Given the description of an element on the screen output the (x, y) to click on. 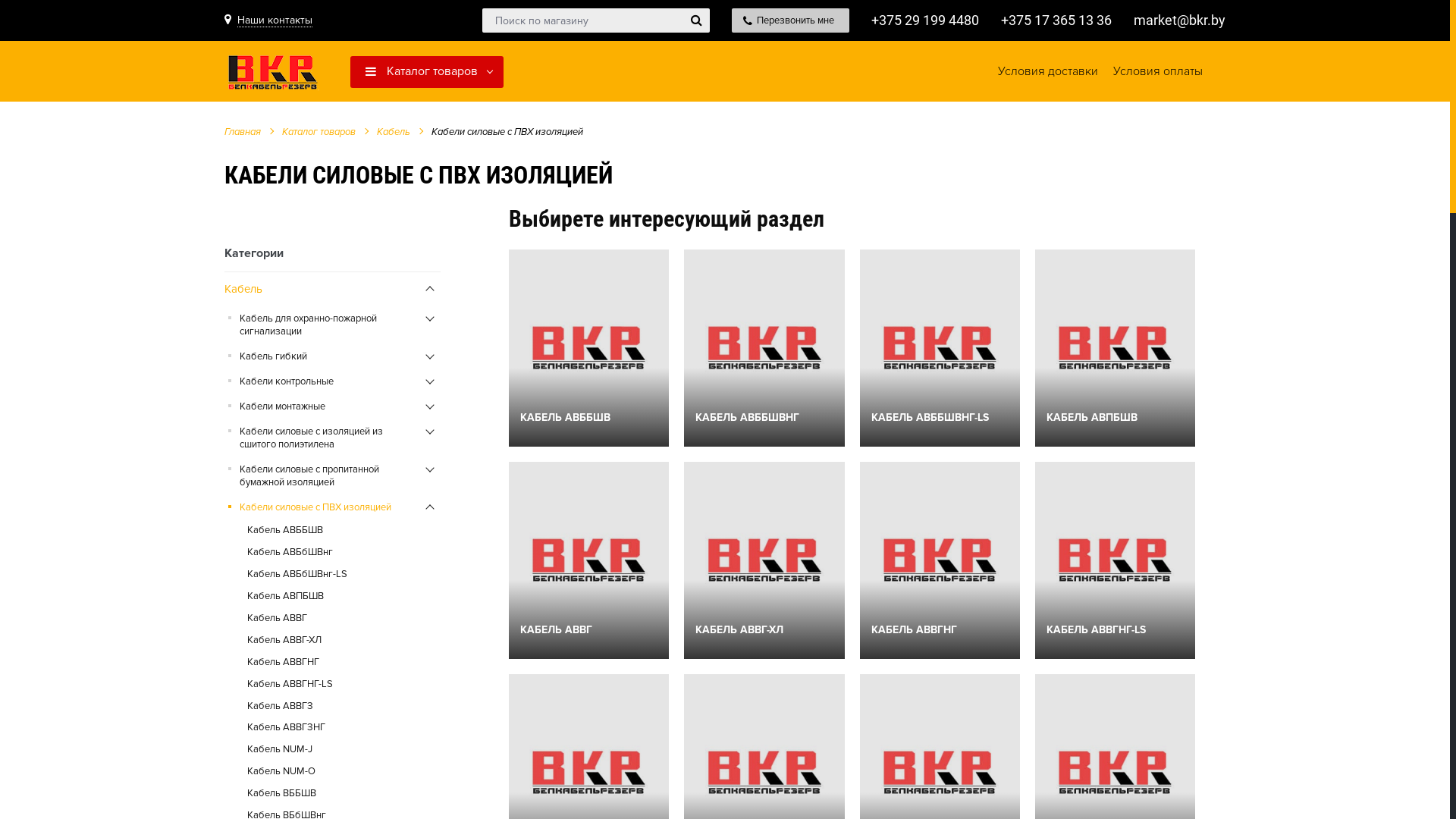
market@bkr.by Element type: text (1179, 20)
+375 17 365 13 36 Element type: text (1056, 20)
+375 29 199 4480 Element type: text (925, 20)
